Given the description of an element on the screen output the (x, y) to click on. 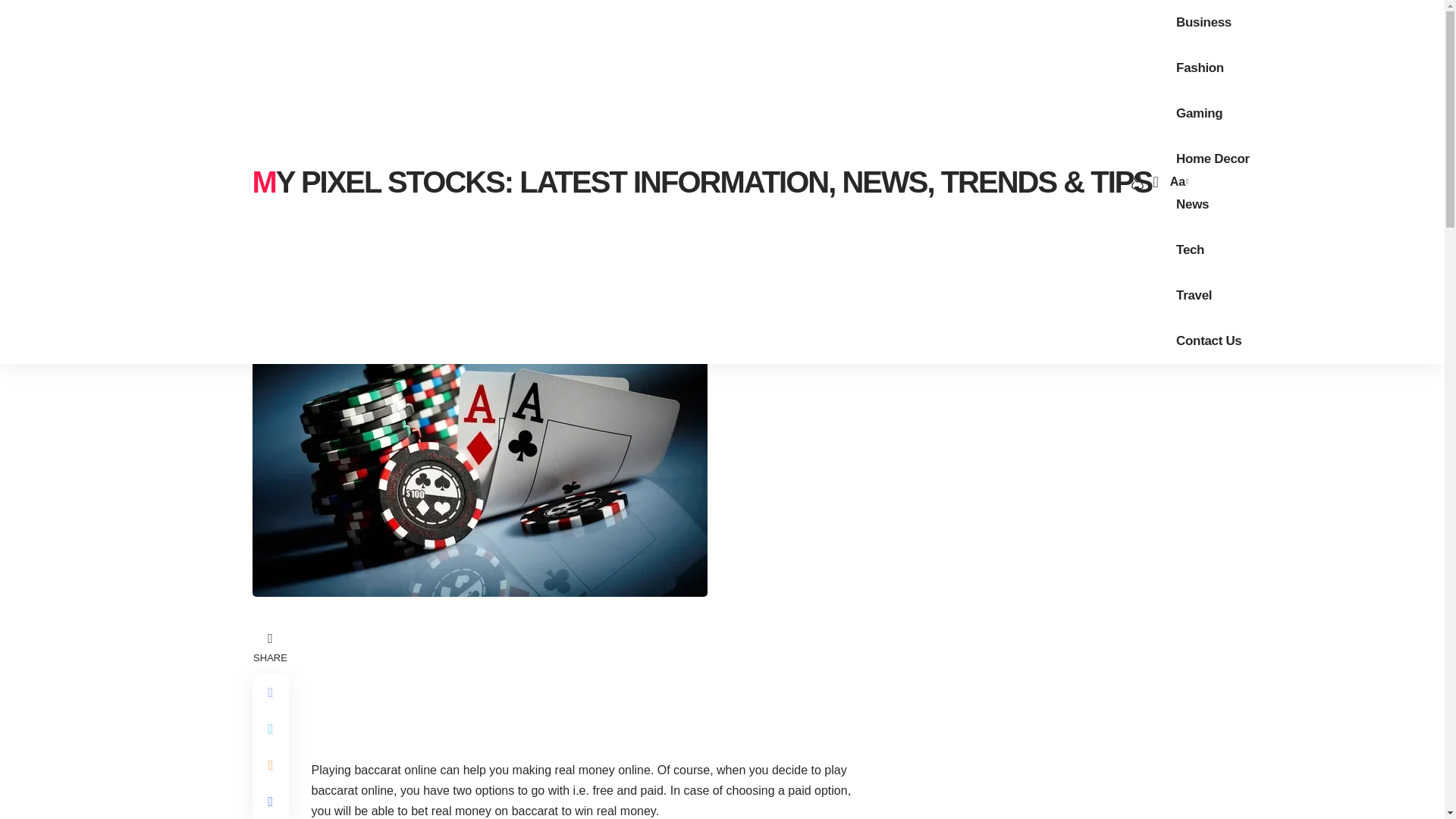
Tech (1189, 249)
News (1192, 204)
Fashion (1200, 67)
Gaming (1199, 113)
Contact Us (1208, 340)
Aa (1177, 181)
Travel (1194, 295)
Business (1203, 22)
Home Decor (1213, 158)
